Given the description of an element on the screen output the (x, y) to click on. 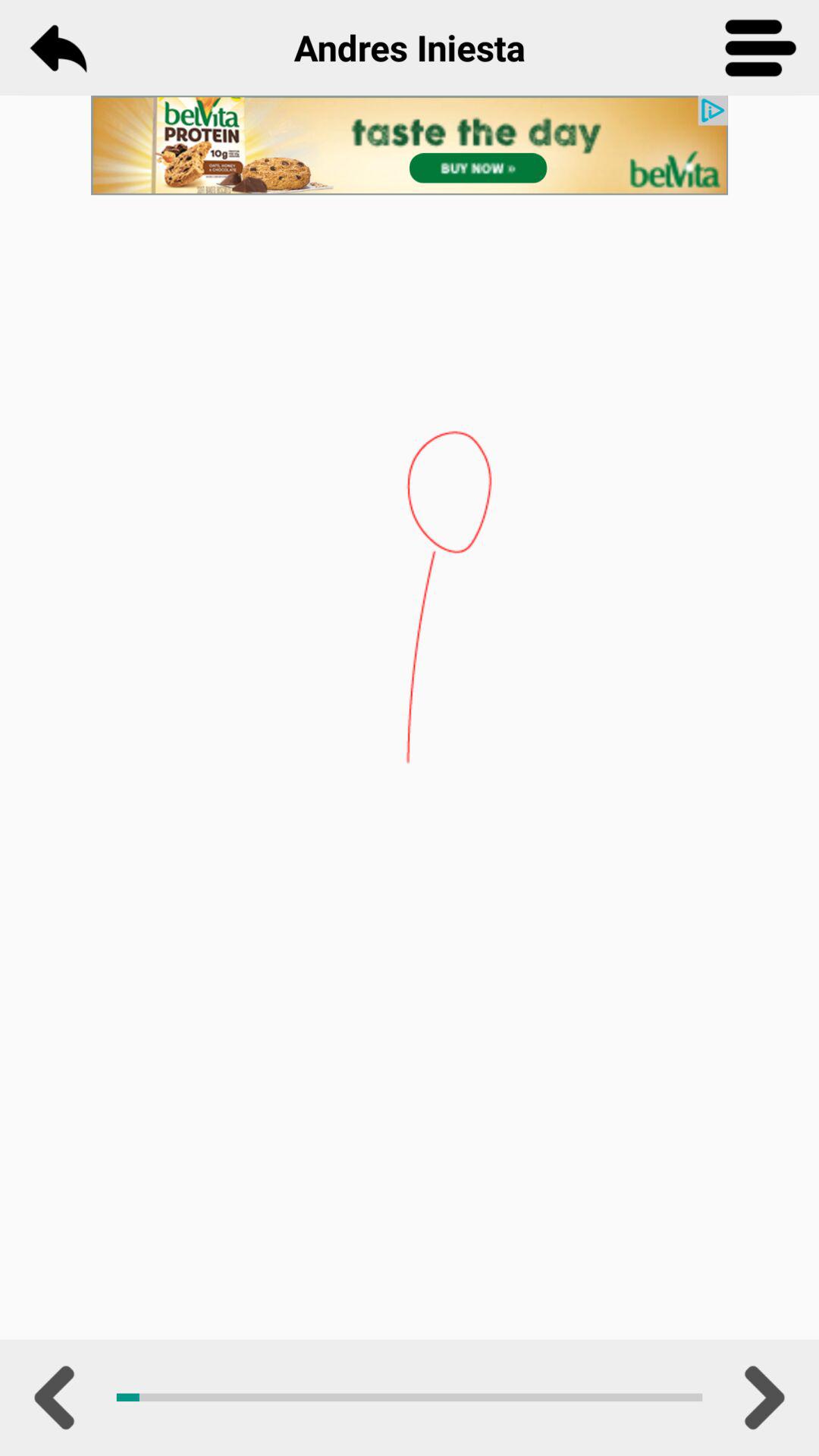
goto back (58, 47)
